Given the description of an element on the screen output the (x, y) to click on. 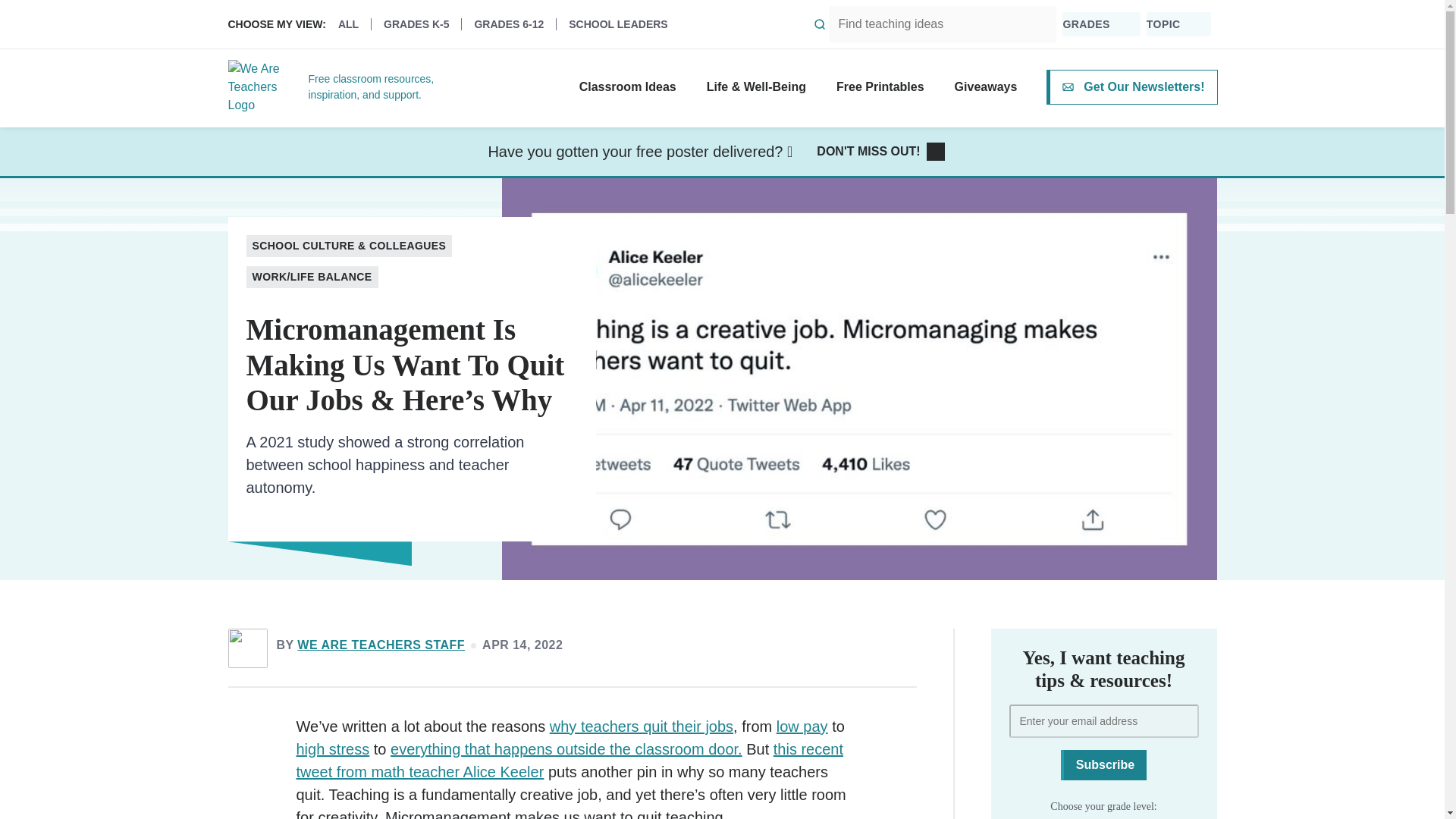
Submit (820, 23)
Giveaways (986, 86)
why teachers quit their jobs (641, 726)
this recent tweet from math teacher Alice Keeler (569, 760)
everything that happens outside the classroom door. (566, 749)
low pay (802, 726)
Get Our Newsletters! (1130, 87)
Classroom Ideas (628, 86)
SCHOOL LEADERS (617, 24)
Submit (820, 23)
